Given the description of an element on the screen output the (x, y) to click on. 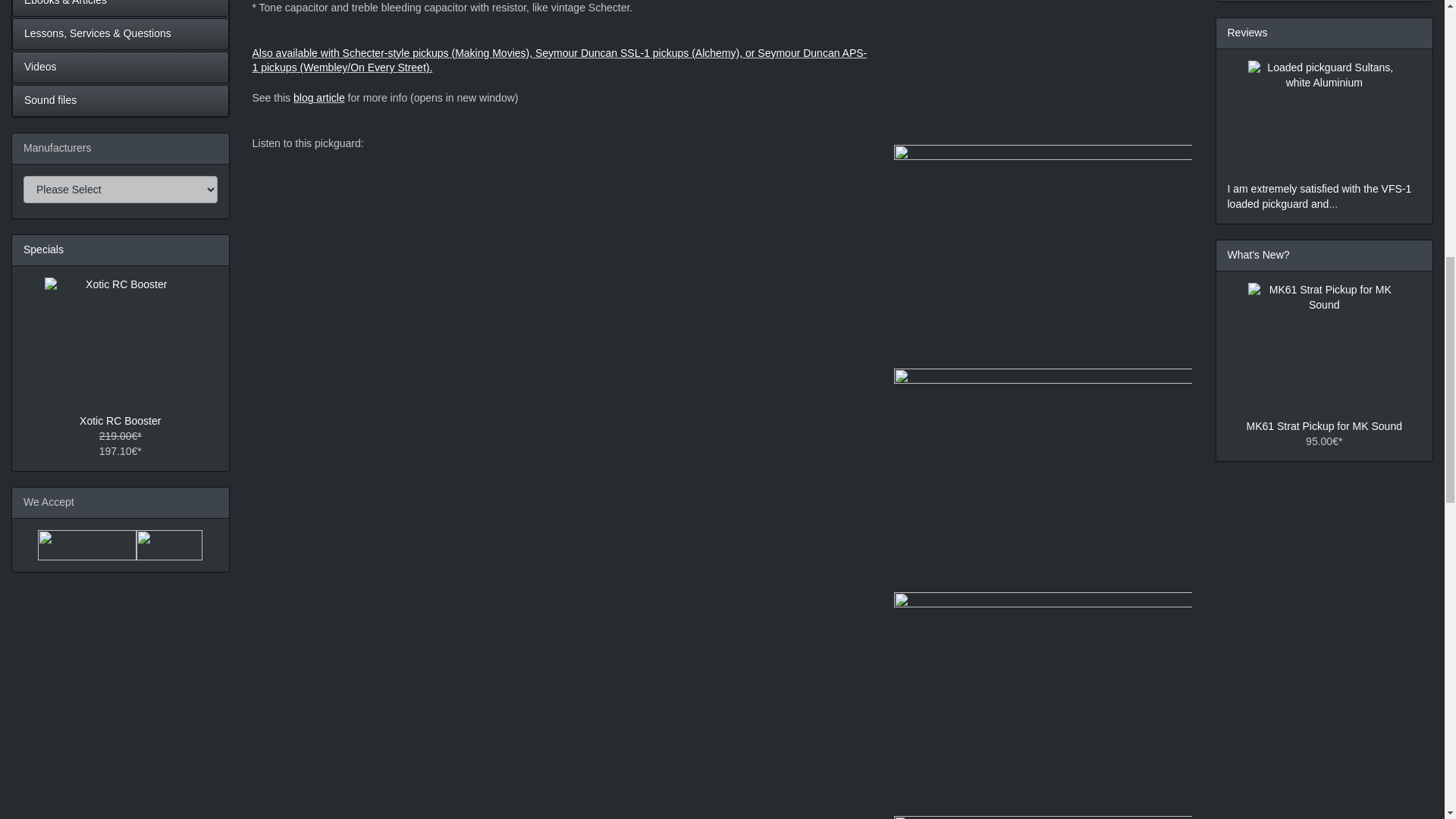
blog article (319, 97)
Xotic RC Booster (120, 337)
